Given the description of an element on the screen output the (x, y) to click on. 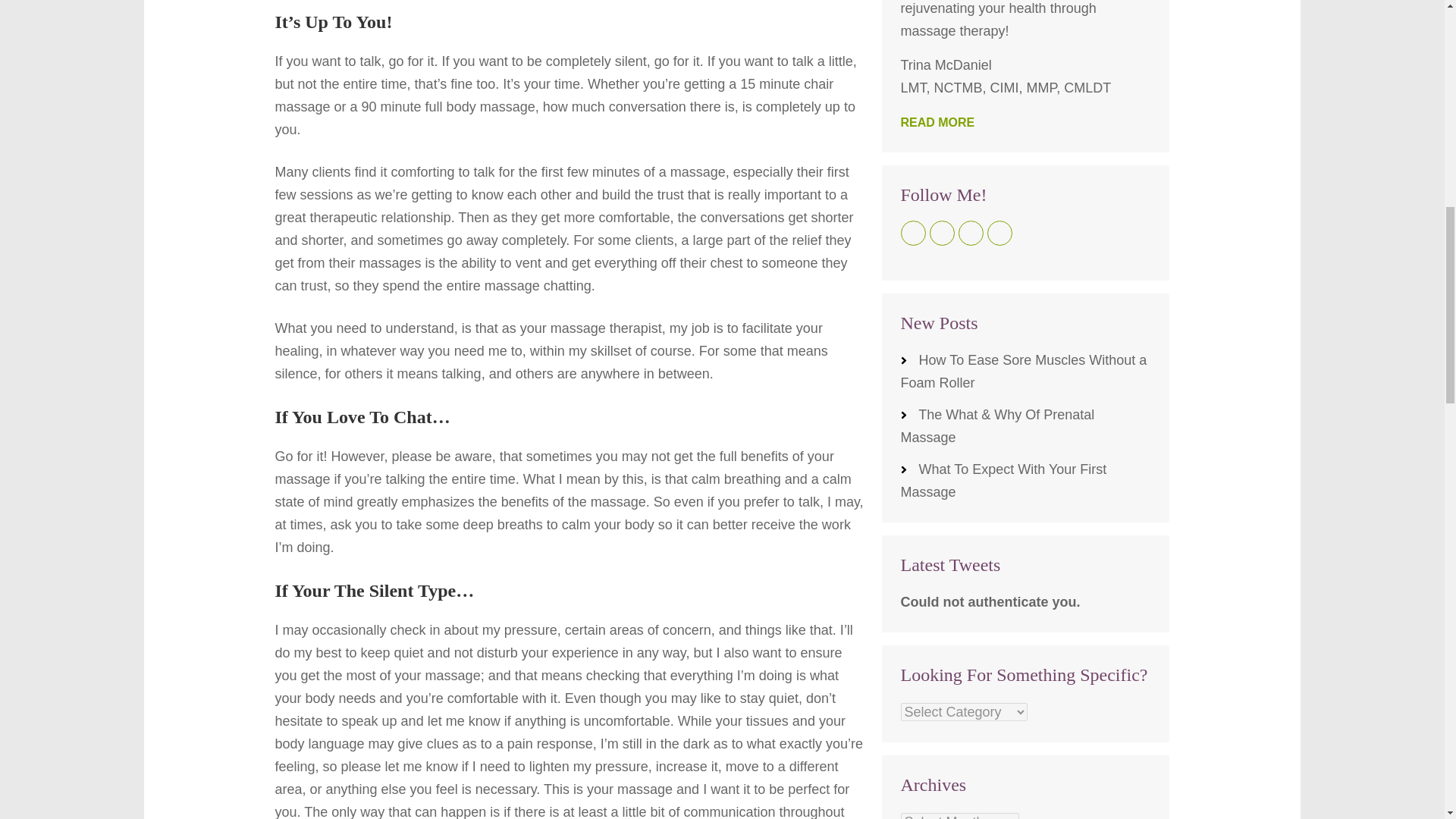
Pinterest (999, 232)
Twitter (942, 232)
Instagram (971, 232)
Facebook (913, 232)
